Given the description of an element on the screen output the (x, y) to click on. 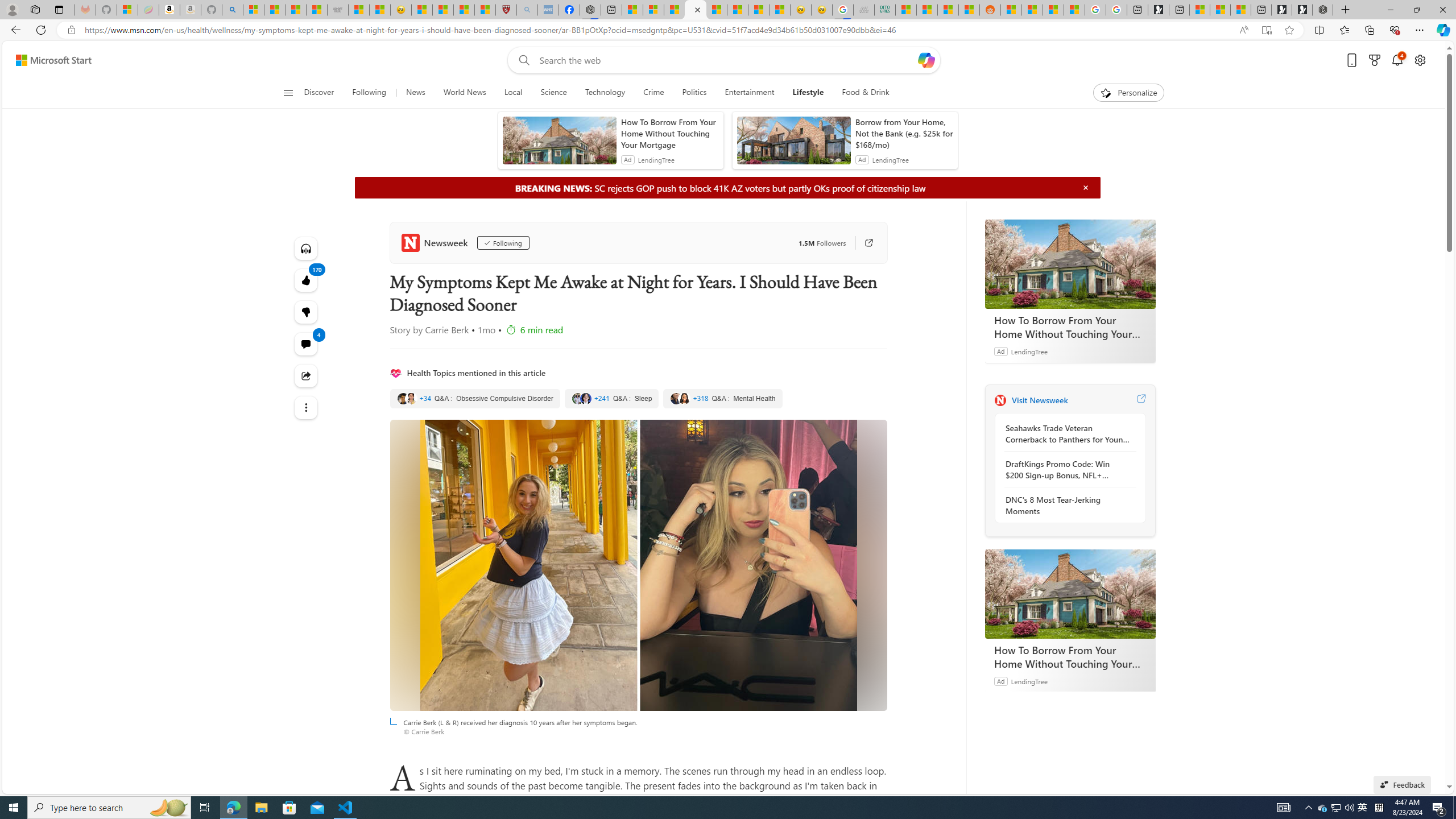
Listen to this article (305, 248)
Newsweek (1000, 399)
